Given the description of an element on the screen output the (x, y) to click on. 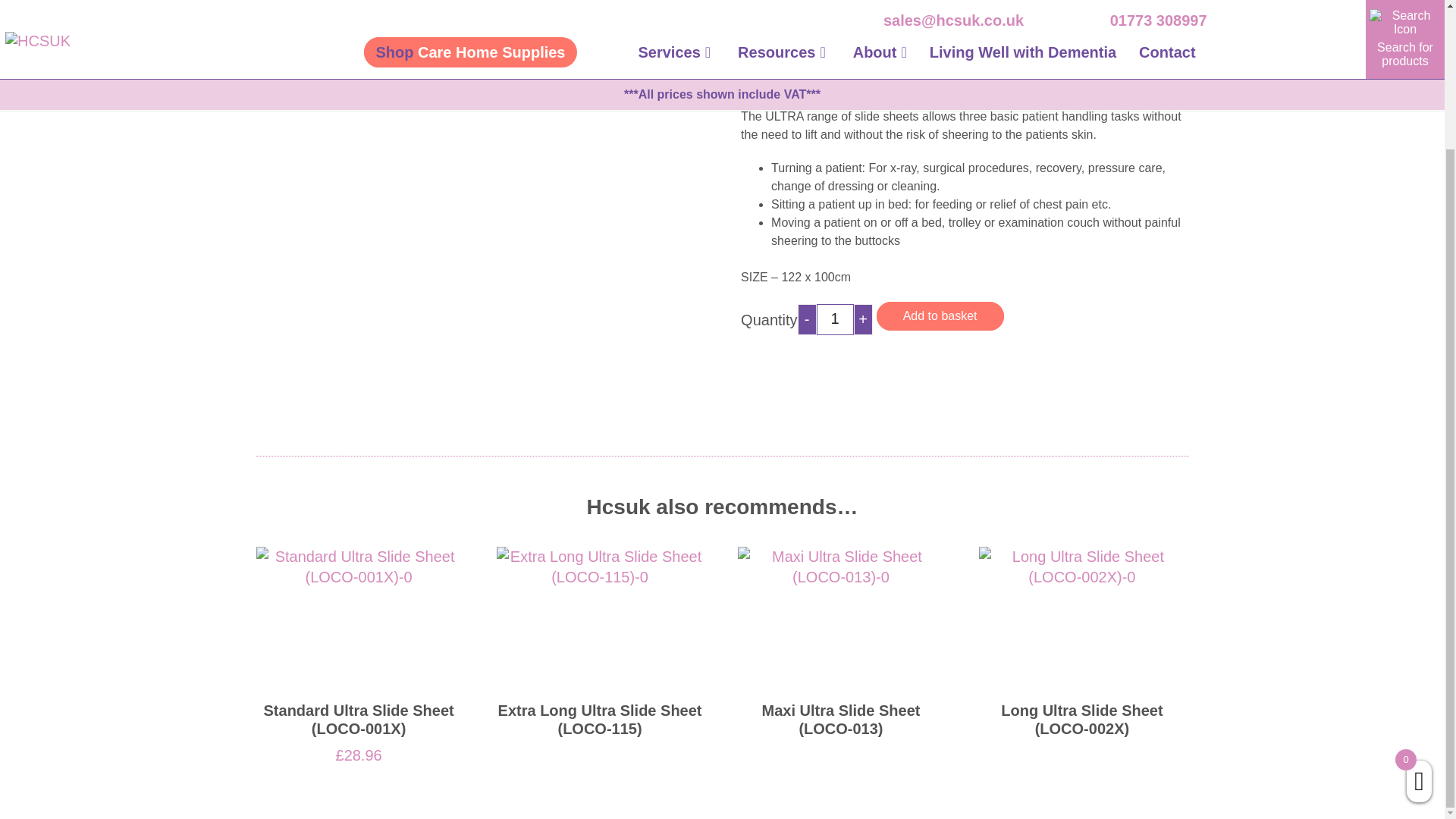
Qty (834, 318)
1 (834, 318)
